Given the description of an element on the screen output the (x, y) to click on. 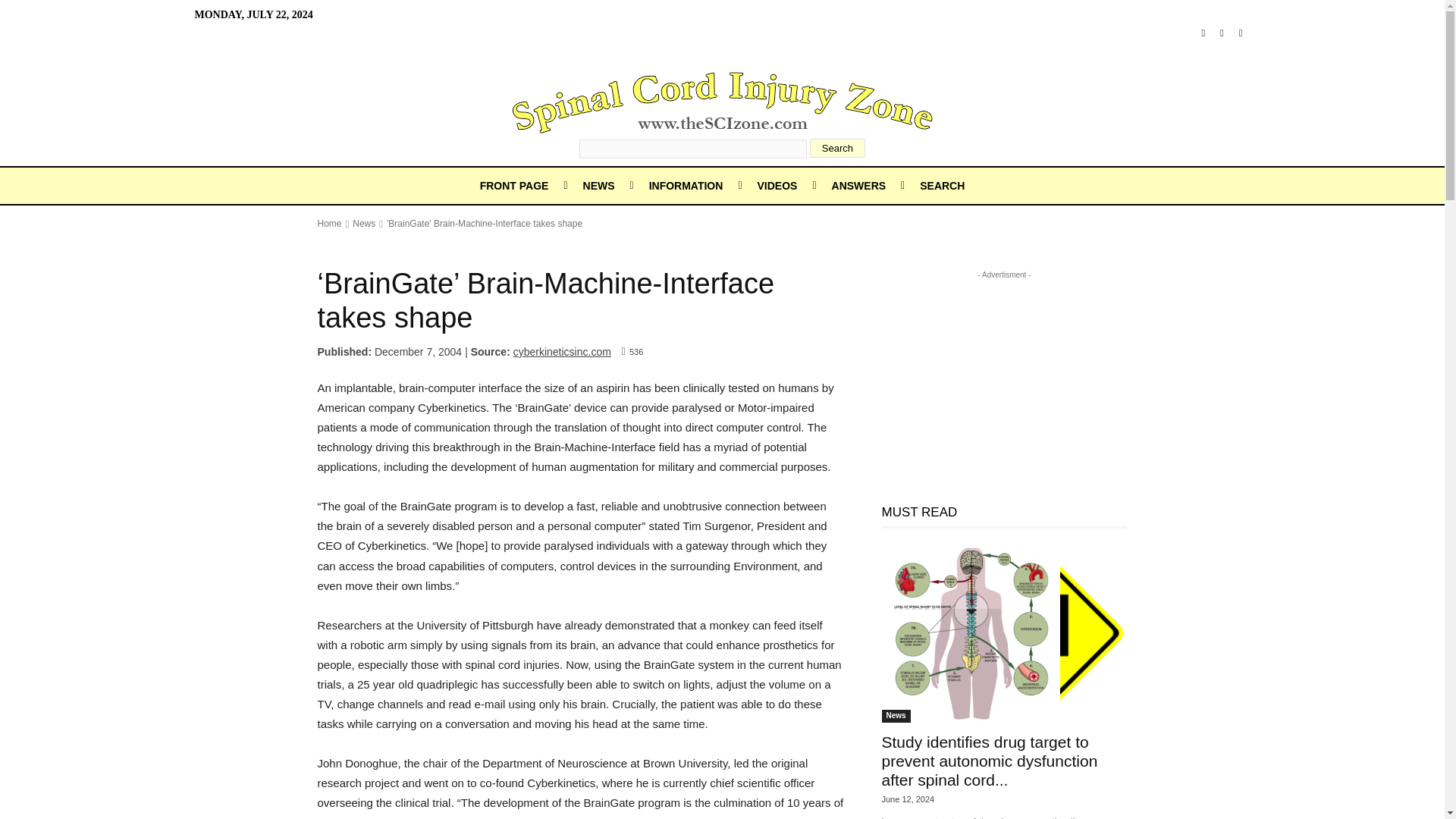
Home (328, 223)
INFORMATION (685, 185)
Search (836, 148)
Search (836, 148)
The Spinal Cord Injury Zone (722, 102)
RSS (1221, 33)
FRONT PAGE (514, 185)
cyberkineticsinc.com (562, 351)
News (363, 223)
View all posts in News (363, 223)
VIDEOS (776, 185)
NEWS (598, 185)
Twitter (1240, 33)
ANSWERS (858, 185)
SEARCH (941, 185)
